Given the description of an element on the screen output the (x, y) to click on. 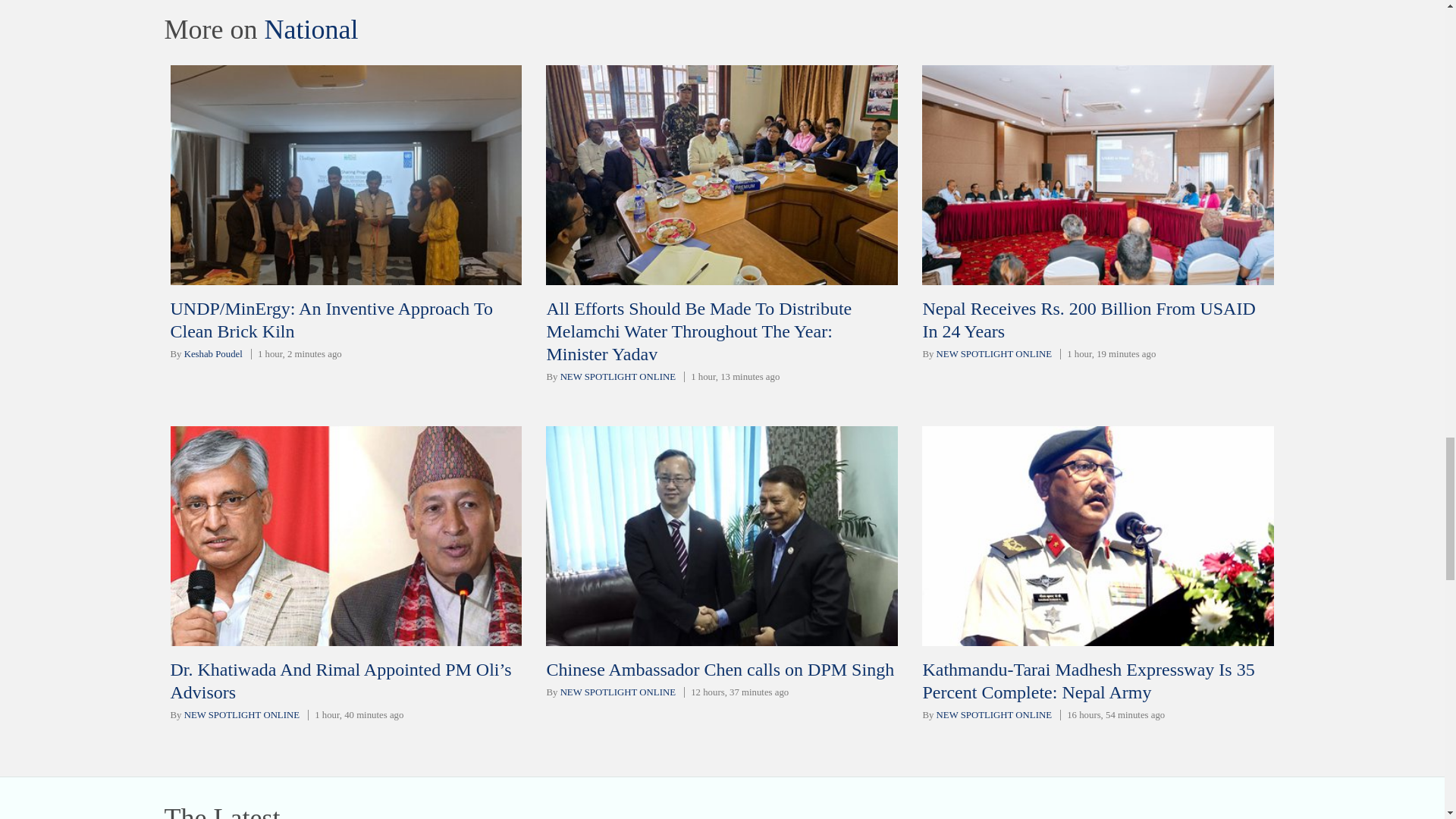
NEW SPOTLIGHT ONLINE (241, 715)
NEW SPOTLIGHT ONLINE (993, 353)
NEW SPOTLIGHT ONLINE (617, 376)
NEW SPOTLIGHT ONLINE (617, 692)
National (310, 29)
Keshab Poudel (213, 353)
Chinese Ambassador Chen calls on DPM Singh (719, 669)
Nepal Receives Rs. 200 Billion From USAID In 24 Years (1088, 319)
NEW SPOTLIGHT ONLINE (993, 715)
